Given the description of an element on the screen output the (x, y) to click on. 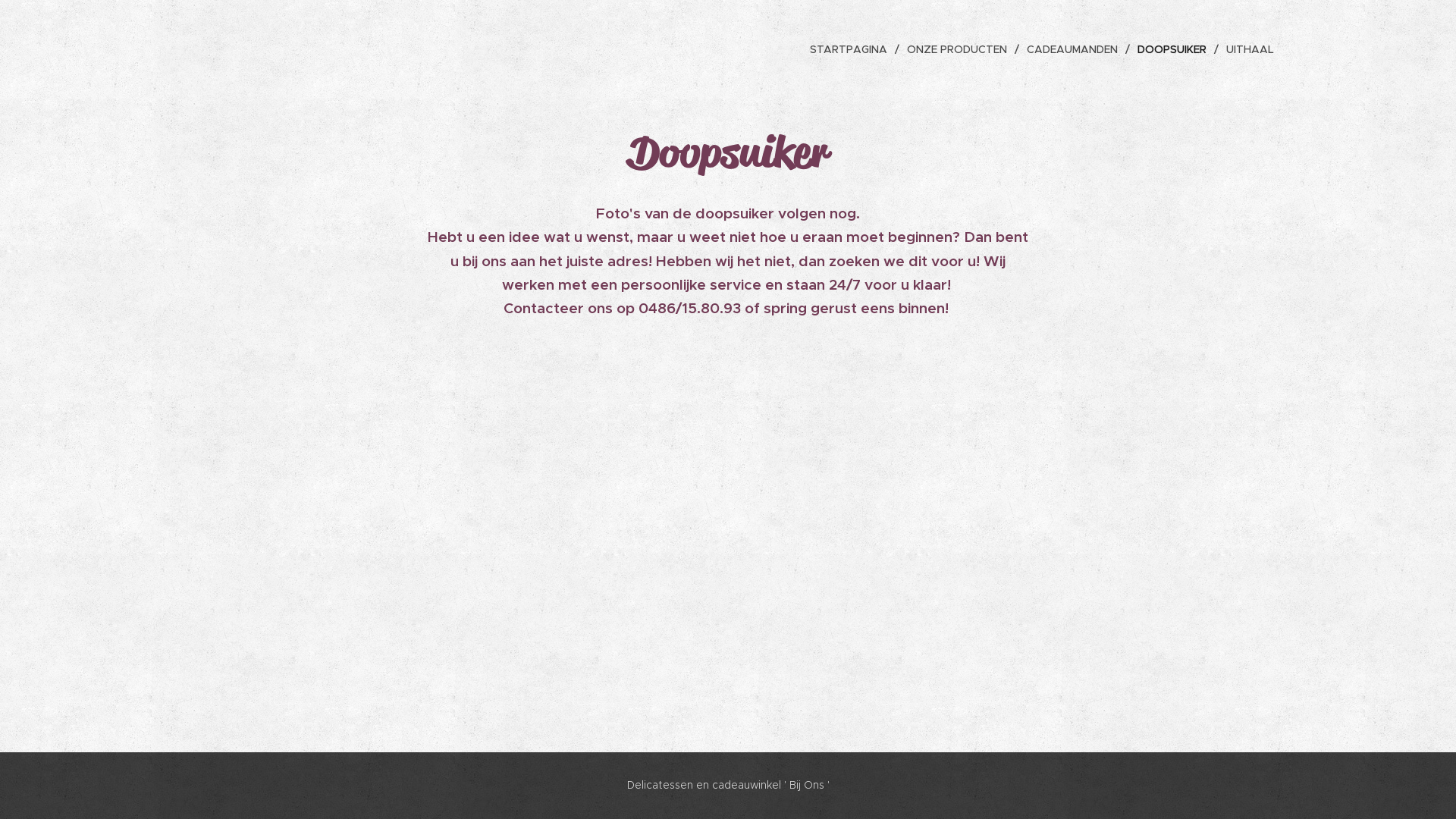
ONZE PRODUCTEN Element type: text (959, 49)
UITHAAL Element type: text (1246, 49)
CADEAUMANDEN Element type: text (1074, 49)
STARTPAGINA Element type: text (852, 49)
DOOPSUIKER Element type: text (1173, 49)
